Given the description of an element on the screen output the (x, y) to click on. 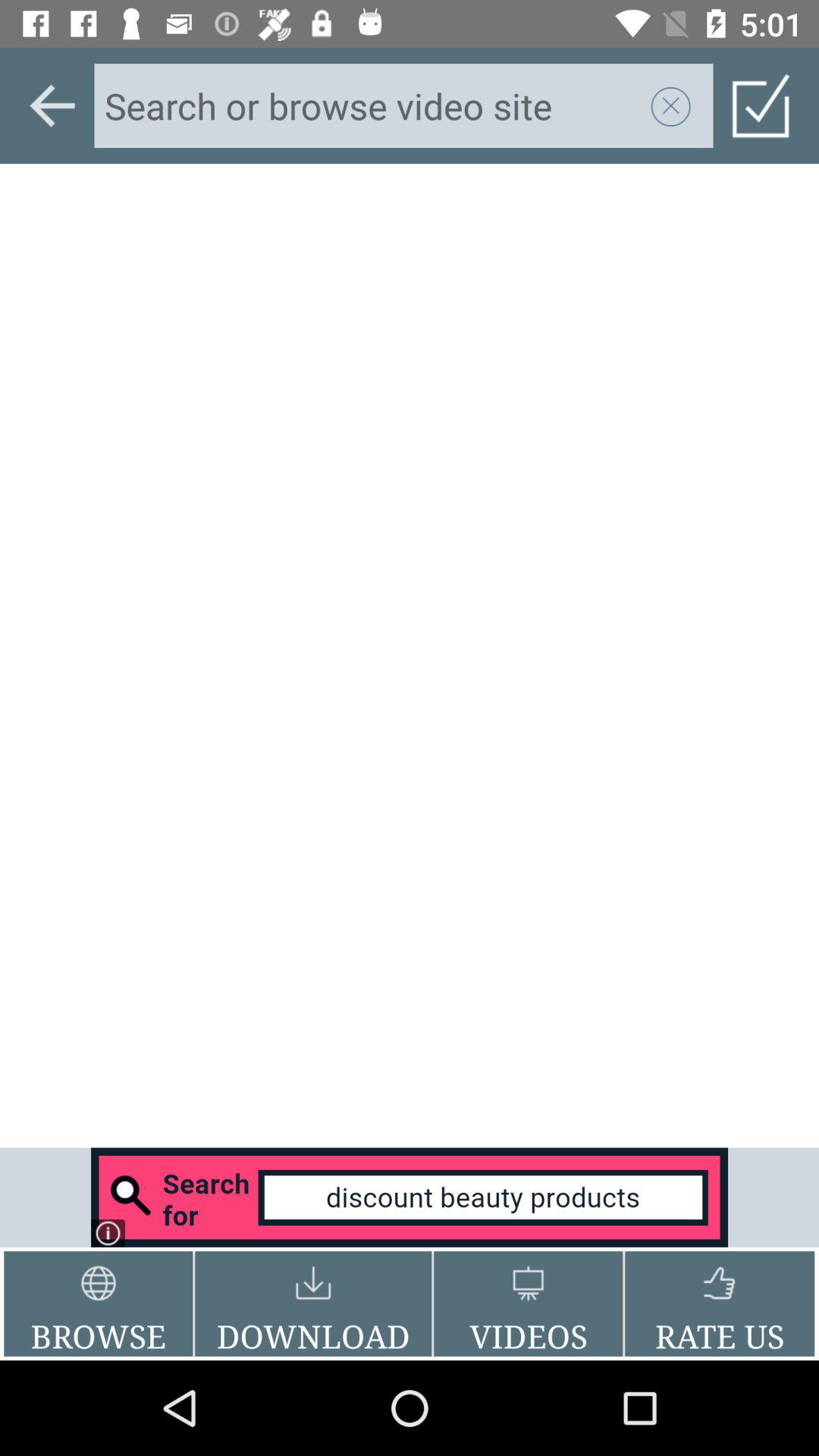
turn on icon next to the download item (97, 1303)
